Given the description of an element on the screen output the (x, y) to click on. 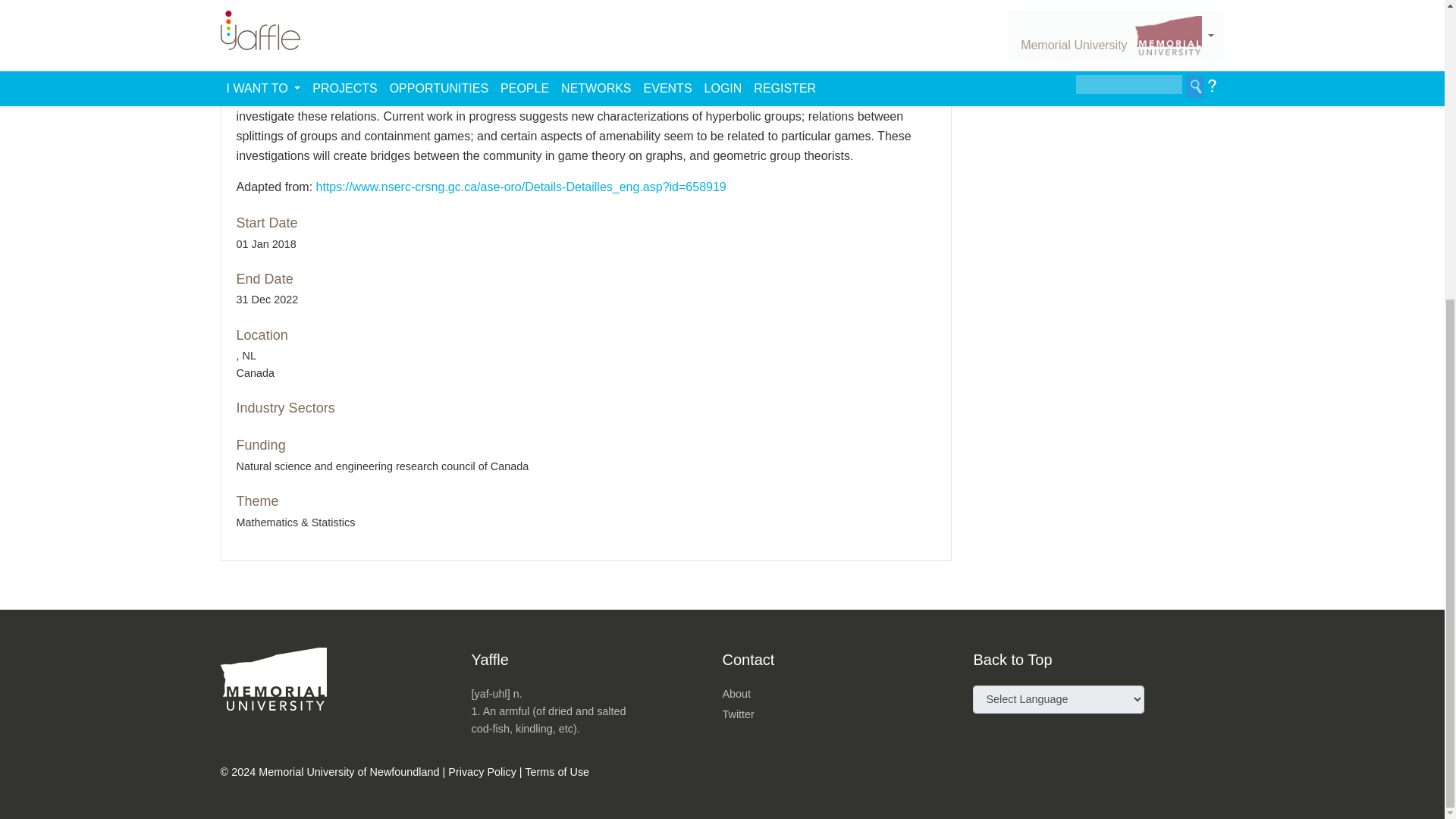
Terms of Use (556, 771)
Twitter (738, 714)
Privacy Policy (482, 771)
About (736, 693)
Back to Top (1011, 659)
